Given the description of an element on the screen output the (x, y) to click on. 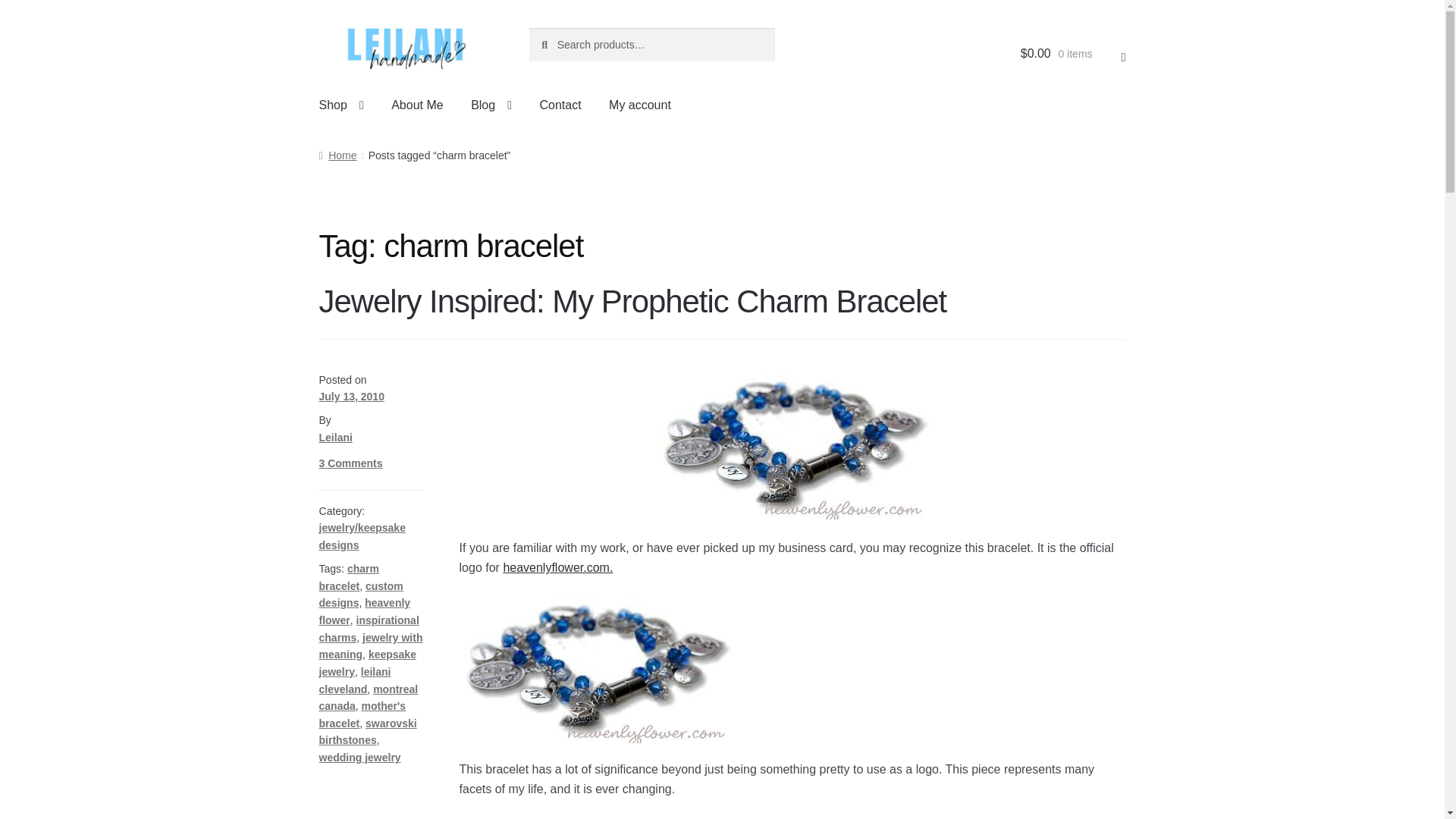
View your shopping cart (1072, 53)
About Me (416, 104)
BCFLEILANI (596, 668)
Blog (491, 104)
Shop (341, 104)
